Given the description of an element on the screen output the (x, y) to click on. 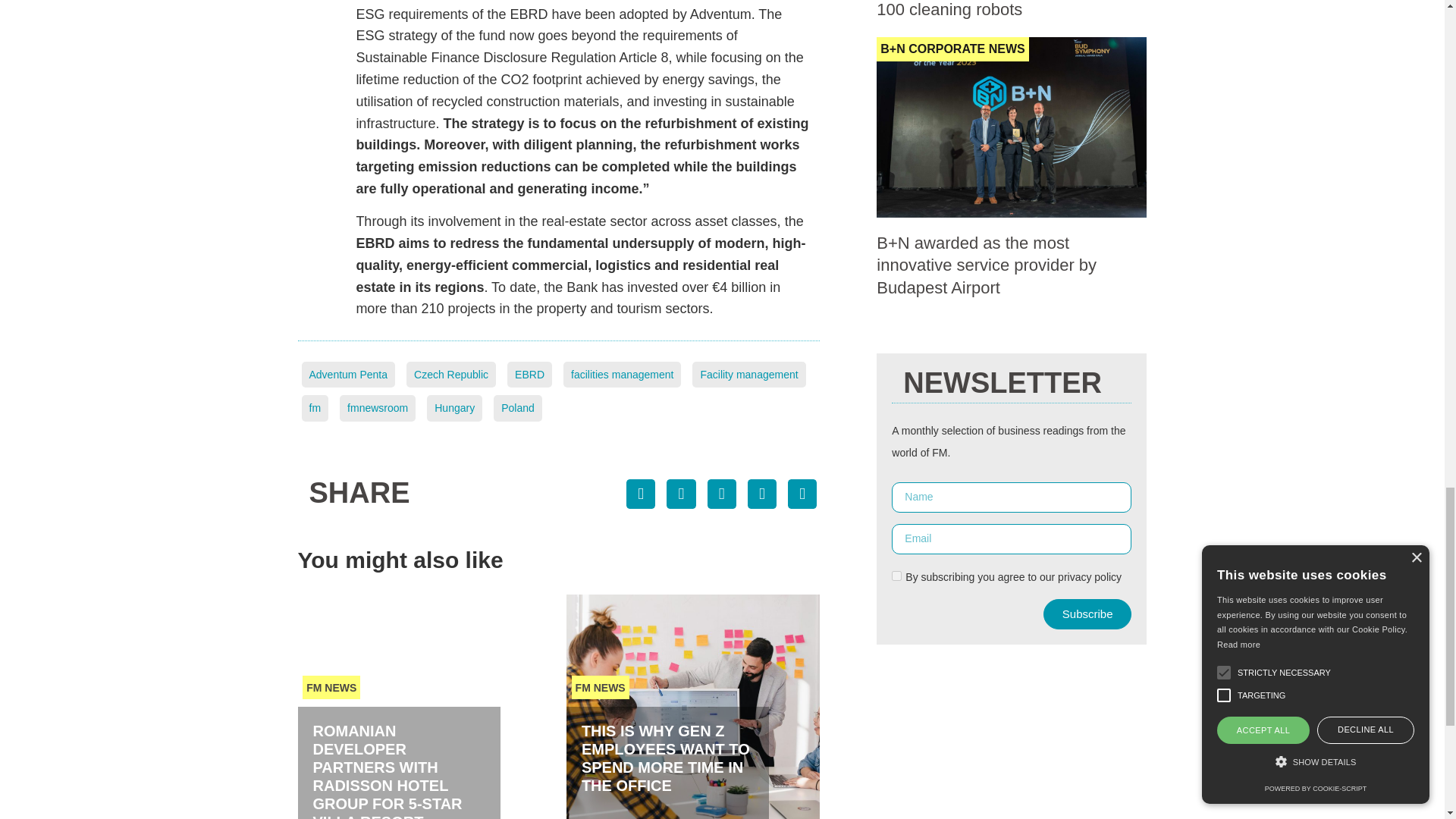
on (896, 575)
FM NEWS (600, 687)
Facility management (749, 374)
Adventum Penta (348, 374)
FM NEWS (330, 687)
facilities management (622, 374)
fmnewsroom (376, 407)
Hungary (453, 407)
fm (315, 407)
Czech Republic (451, 374)
EBRD (528, 374)
Poland (517, 407)
